Given the description of an element on the screen output the (x, y) to click on. 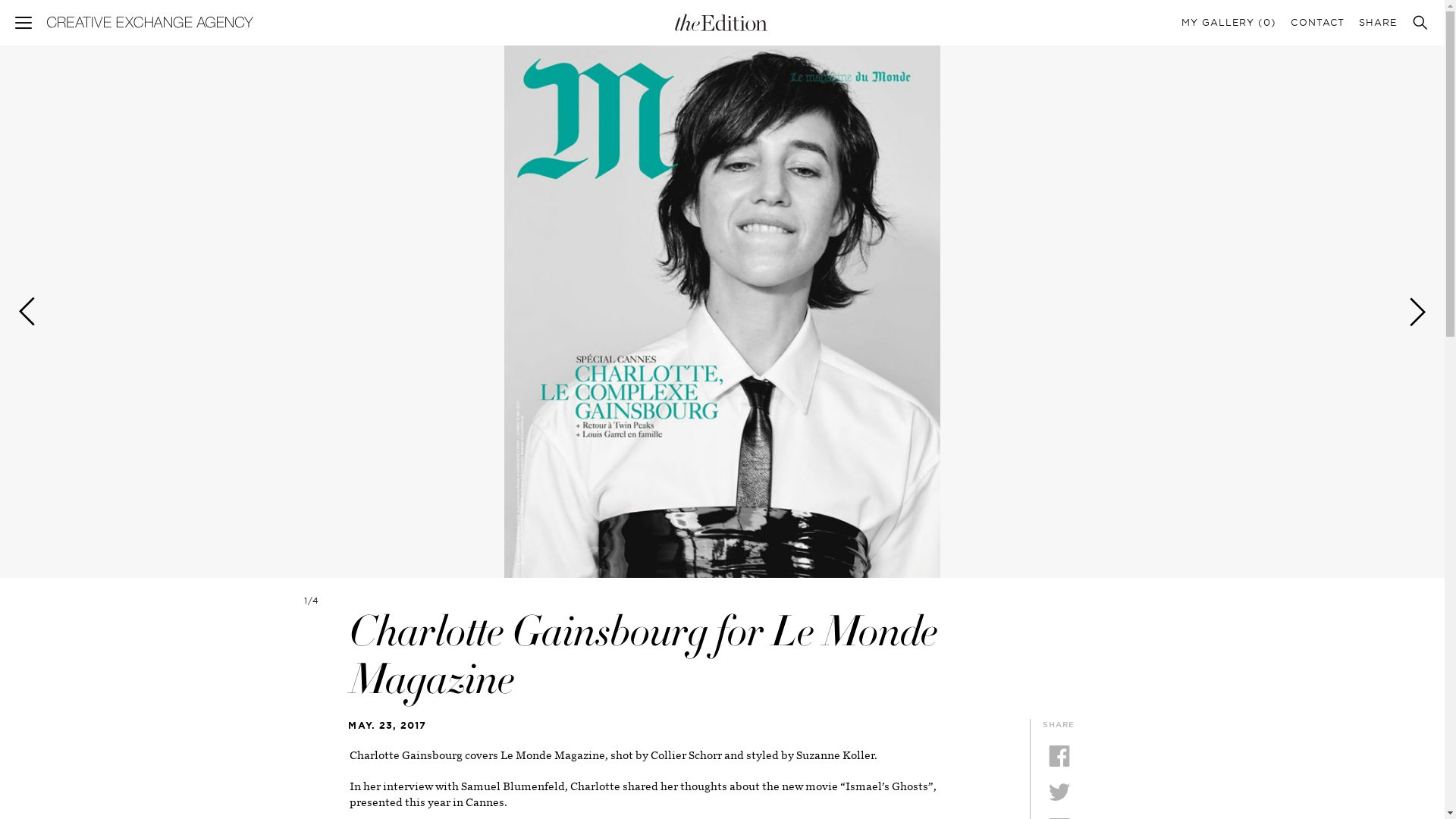
Facebook (1058, 755)
CONTACT (1316, 21)
SHARE (1377, 21)
Twitter (1058, 791)
Email (1058, 817)
